Given the description of an element on the screen output the (x, y) to click on. 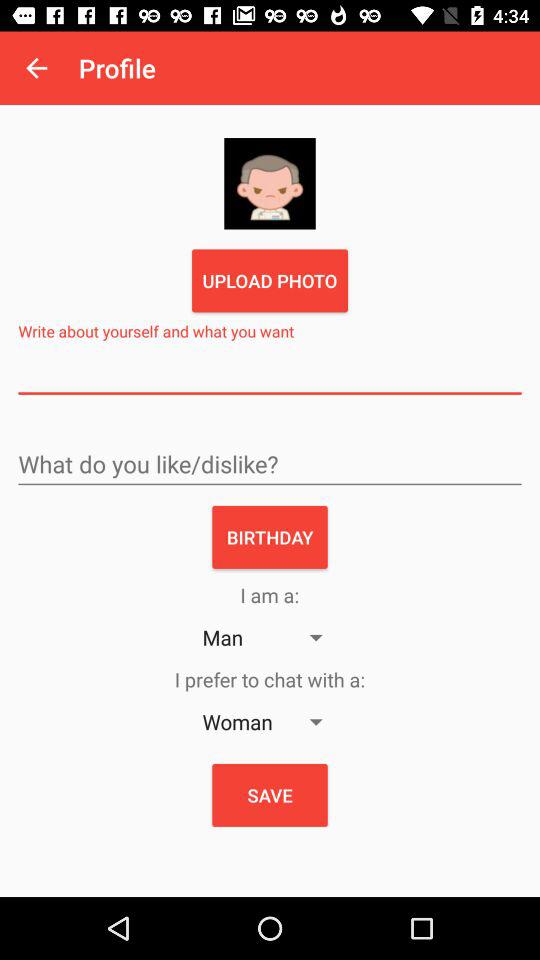
select to enter text (269, 373)
